Given the description of an element on the screen output the (x, y) to click on. 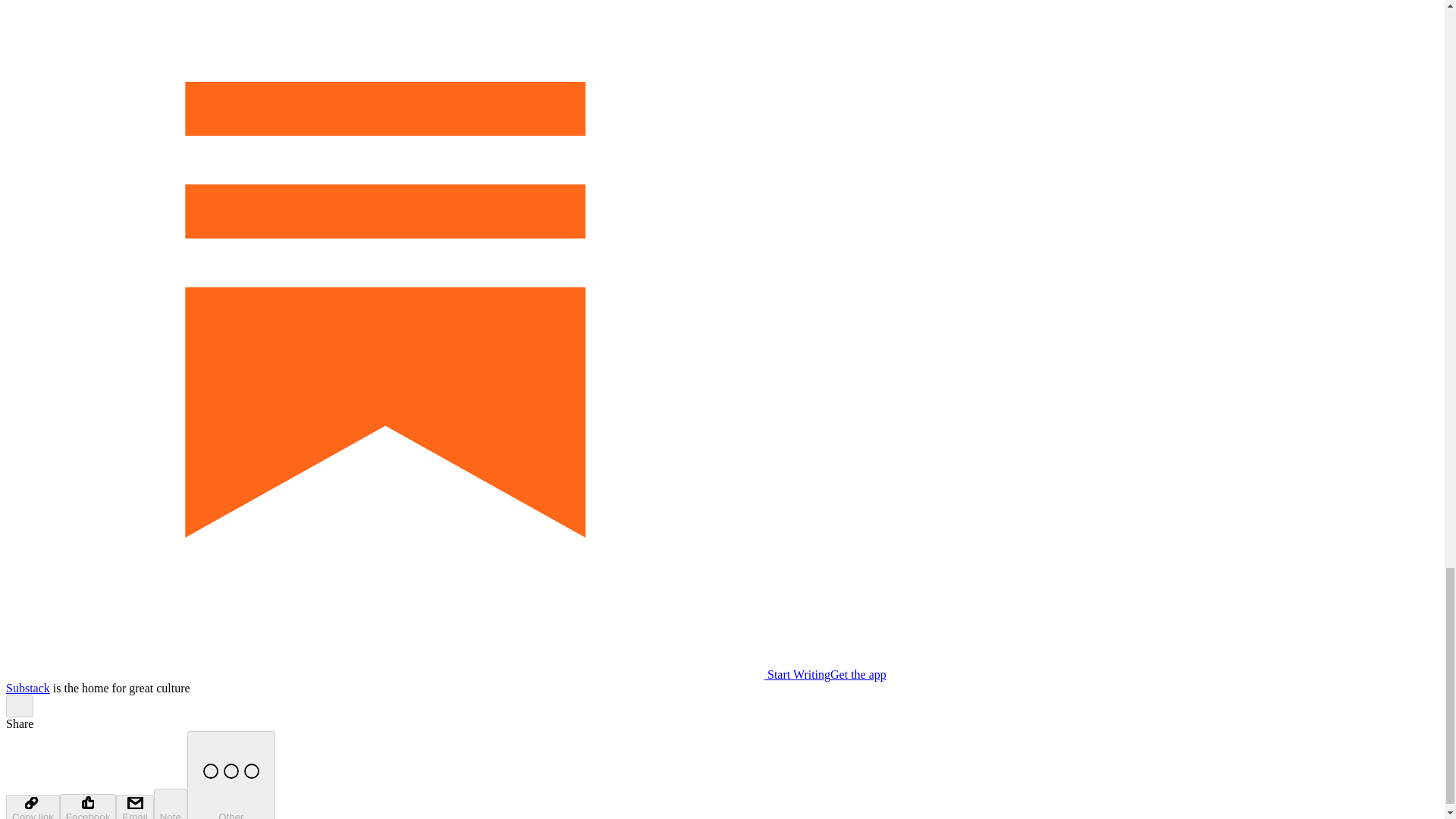
Start Writing (417, 674)
Substack (27, 687)
Get the app (857, 674)
